Given the description of an element on the screen output the (x, y) to click on. 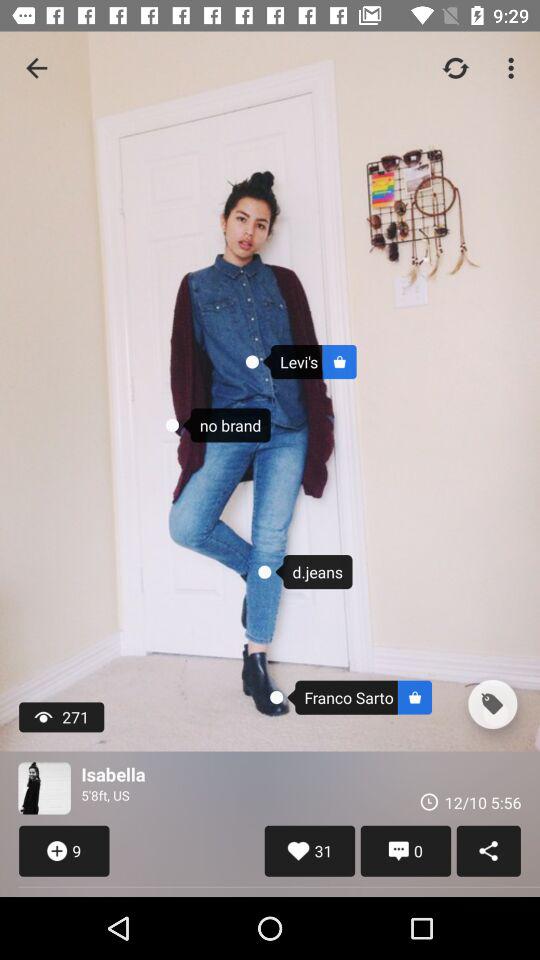
open icon next to isabella item (44, 787)
